Given the description of an element on the screen output the (x, y) to click on. 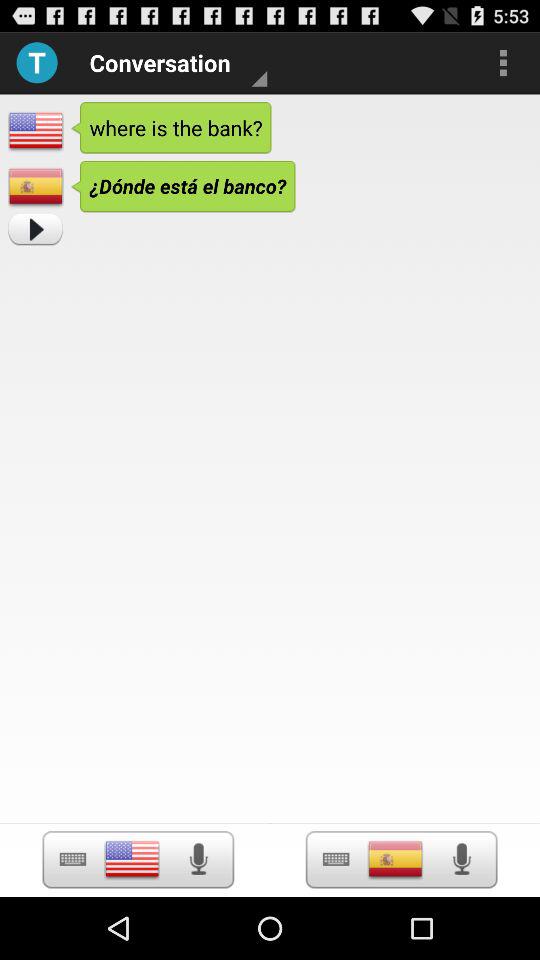
listen to translation (461, 859)
